Given the description of an element on the screen output the (x, y) to click on. 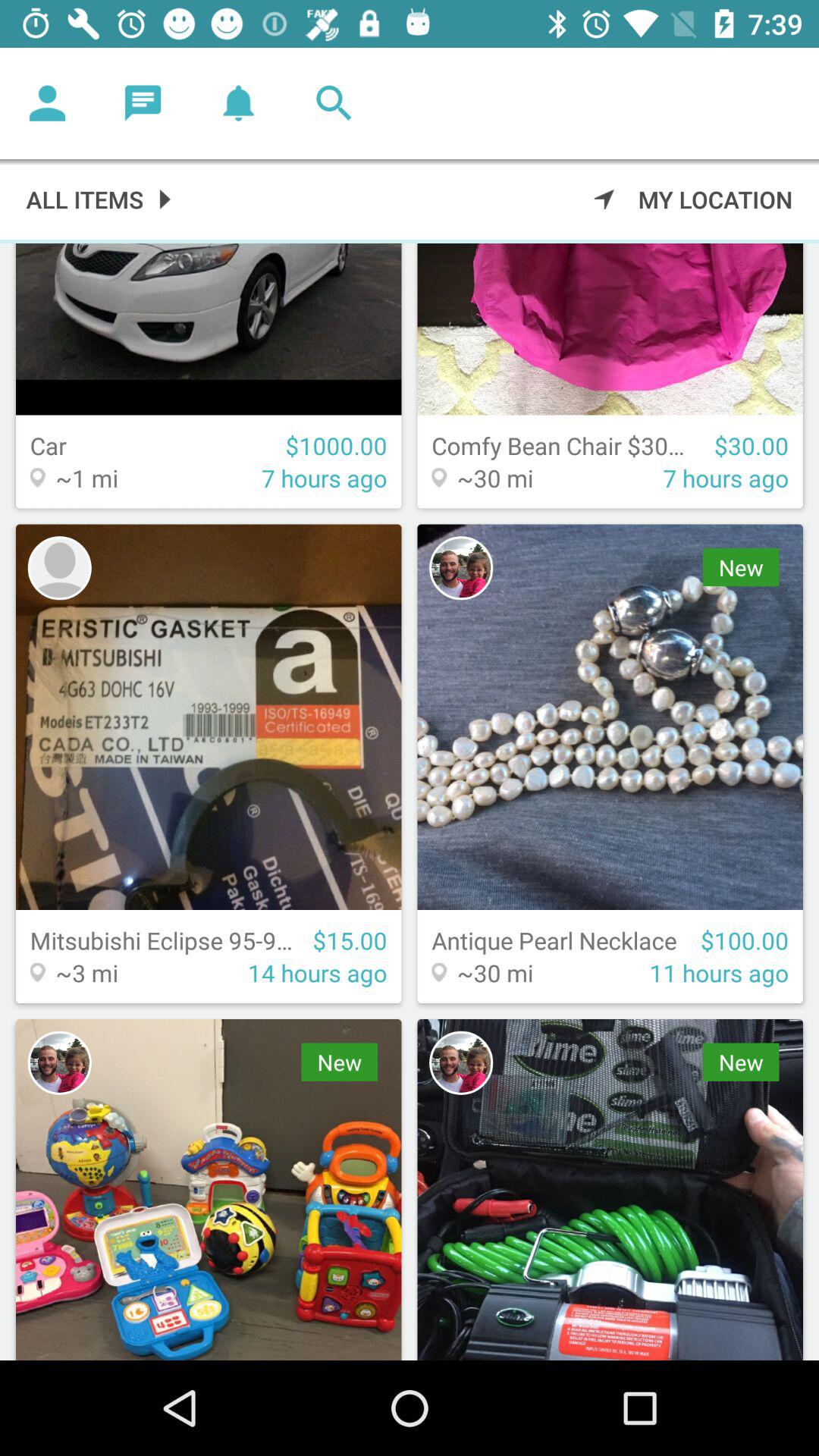
view profile (47, 103)
